Given the description of an element on the screen output the (x, y) to click on. 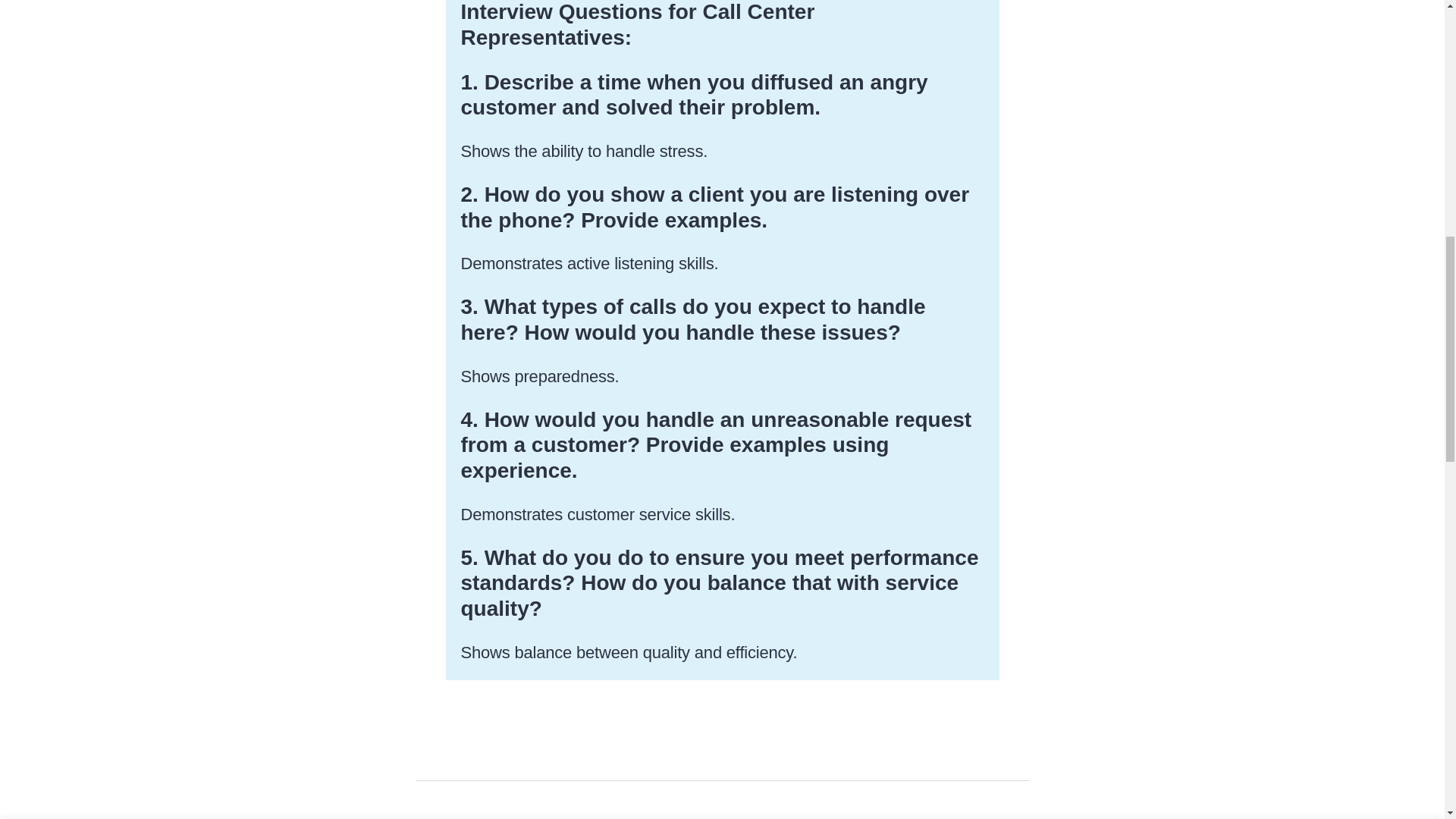
Post a Job (722, 24)
